Given the description of an element on the screen output the (x, y) to click on. 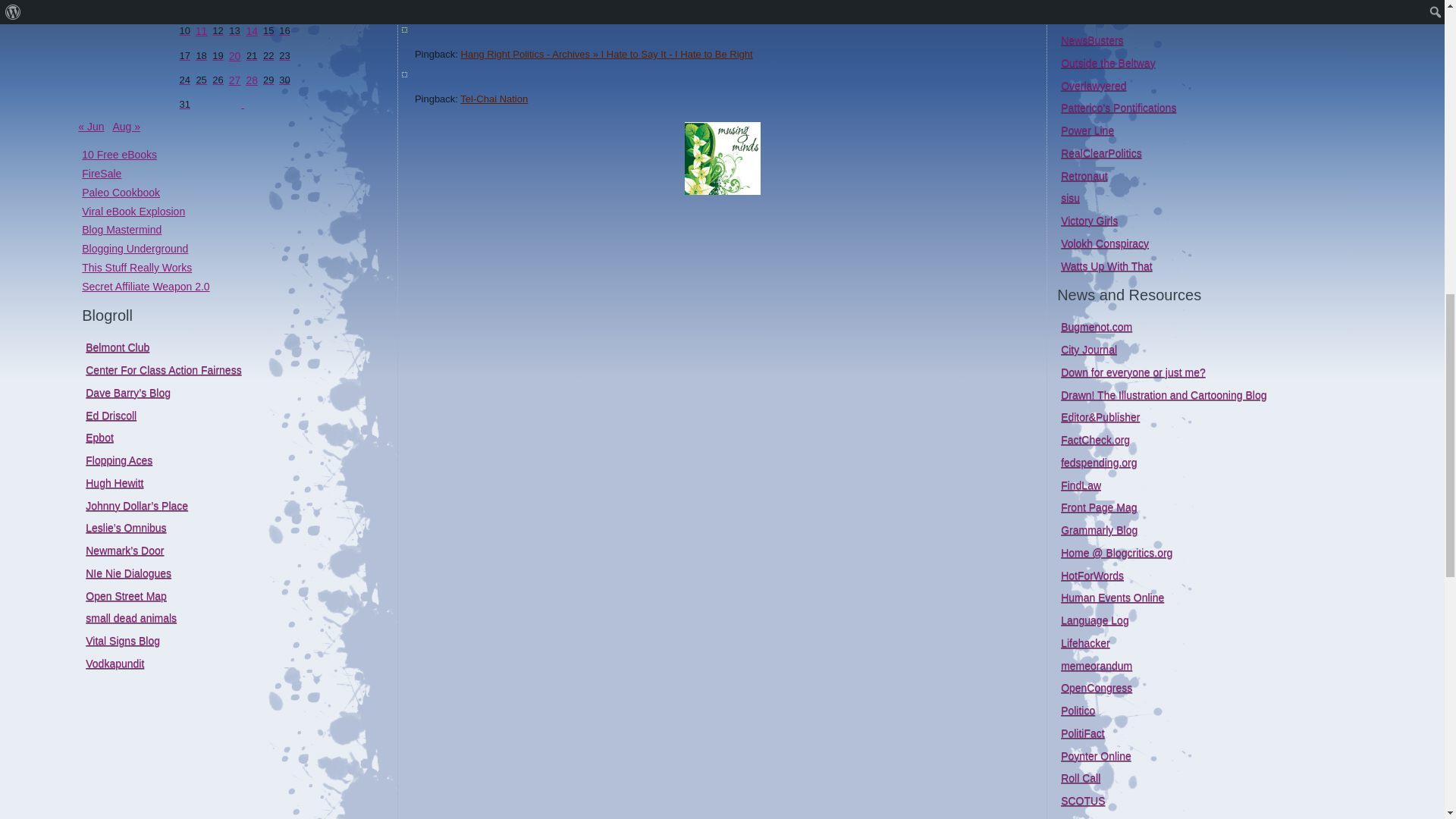
FireSale (100, 173)
Ed Driscoll (110, 415)
Epbot (99, 437)
Blogging Underground (134, 248)
4 (201, 8)
Paleo Cookbook (120, 192)
Viral eBook Explosion (132, 210)
Belmont Club (117, 346)
Ed Driscoll (110, 415)
Belmont Club (117, 346)
